Given the description of an element on the screen output the (x, y) to click on. 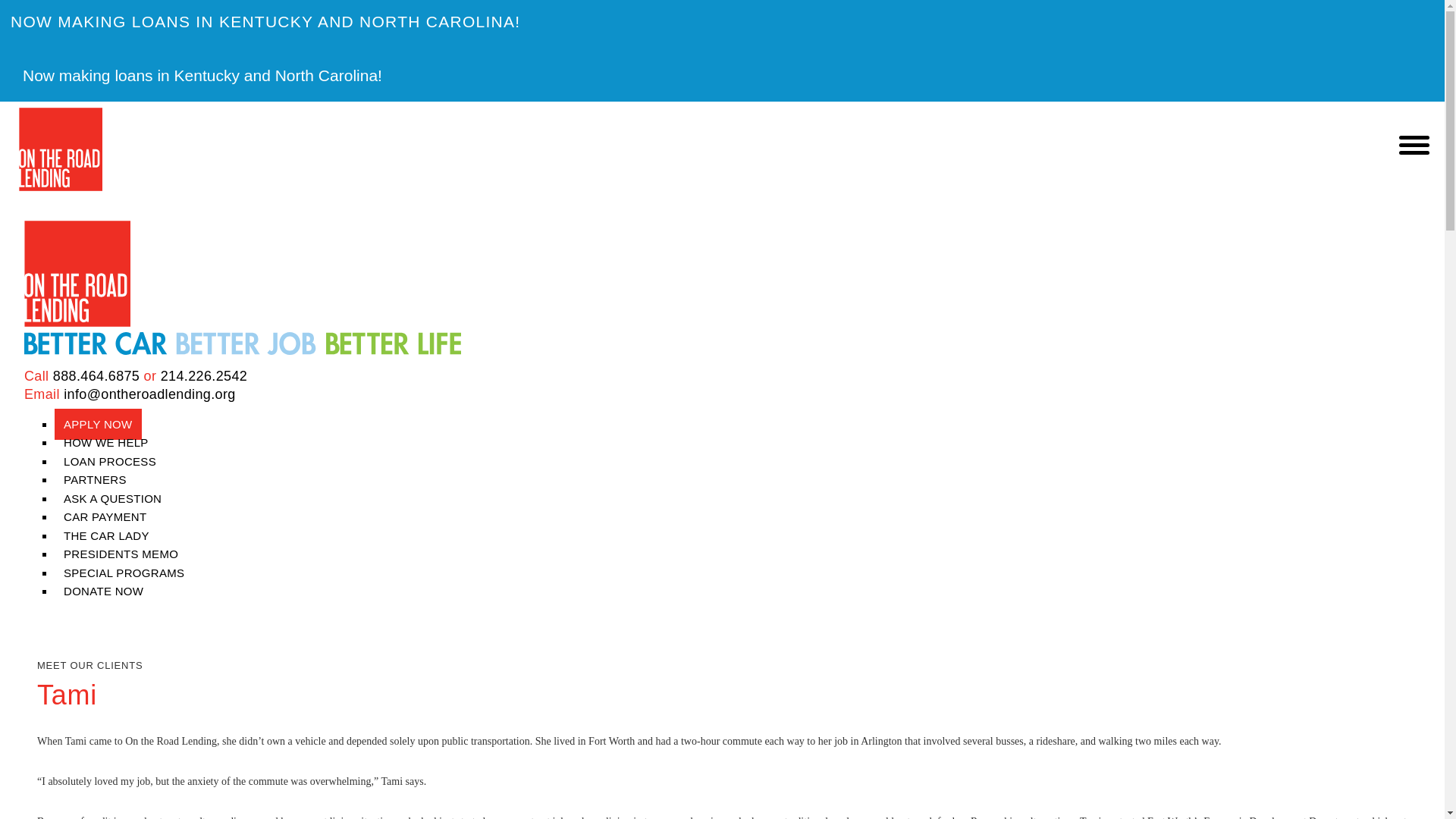
SPECIAL PROGRAMS (124, 572)
DONATE NOW (98, 590)
HOW WE HELP (106, 441)
APPLY NOW (98, 423)
CAR PAYMENT (105, 516)
888.464.6875 (95, 376)
PRESIDENTS MEMO (121, 553)
PARTNERS (95, 479)
214.226.2542 (203, 376)
LOAN PROCESS (110, 460)
